Given the description of an element on the screen output the (x, y) to click on. 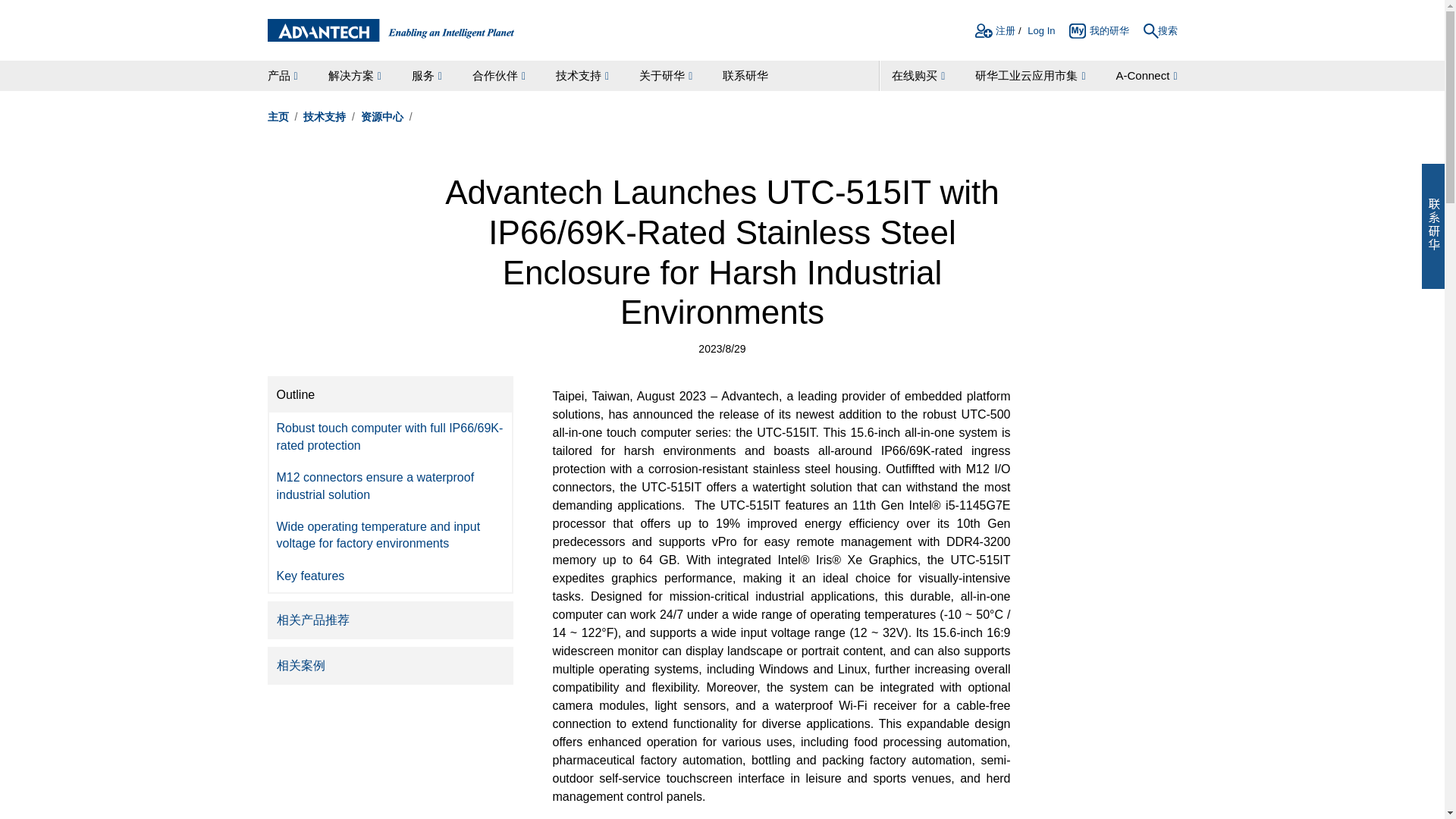
Log In (1040, 32)
Advantech Homepage (389, 29)
